Given the description of an element on the screen output the (x, y) to click on. 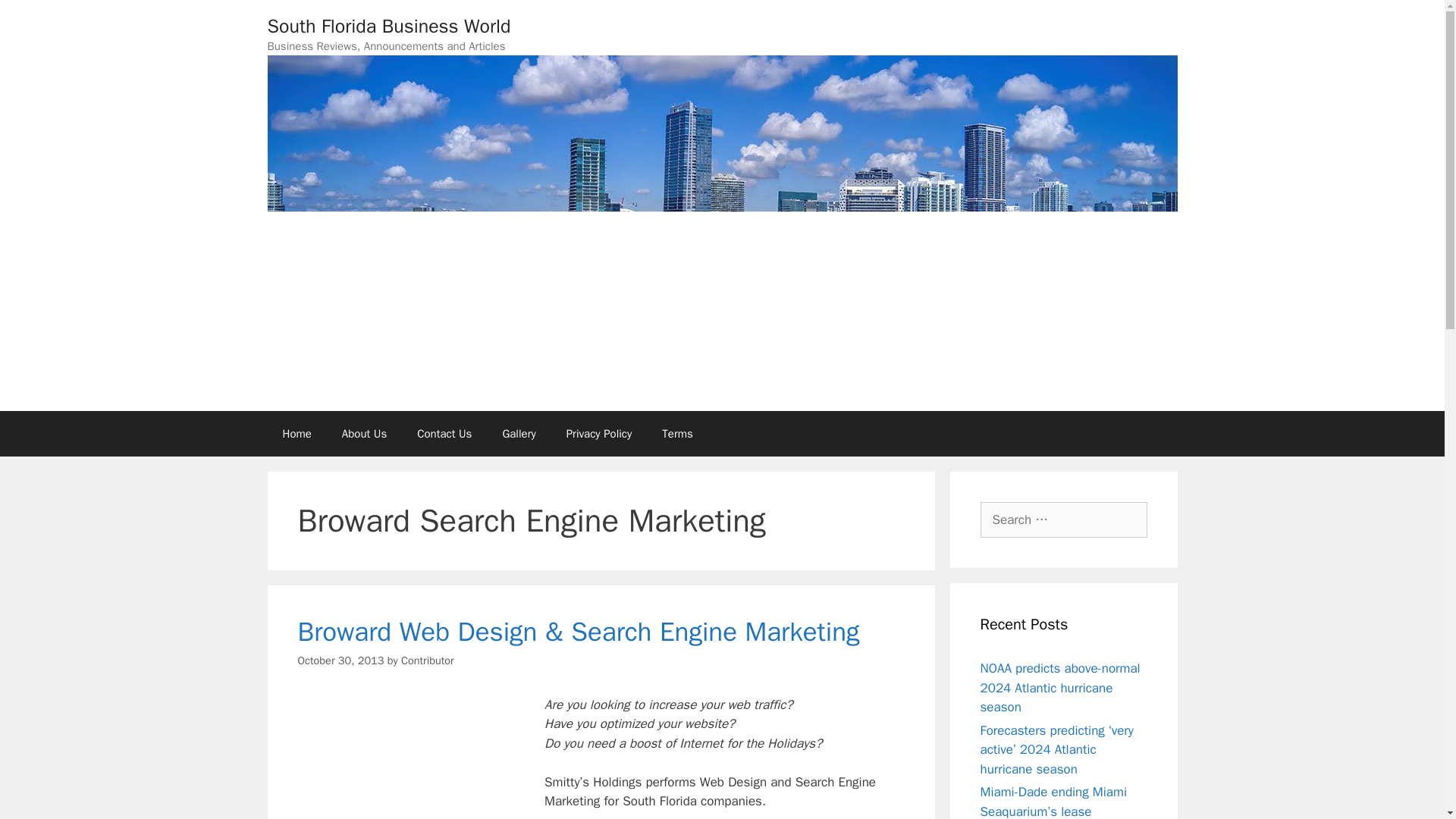
Contributor (427, 660)
Gallery (518, 433)
NOAA predicts above-normal 2024 Atlantic hurricane season (1059, 687)
Privacy Policy (599, 433)
Search for: (1063, 520)
Home (296, 433)
South Florida Business World (388, 25)
View all posts by Contributor (427, 660)
Contact Us (443, 433)
Search (35, 18)
About Us (363, 433)
Terms (676, 433)
